Given the description of an element on the screen output the (x, y) to click on. 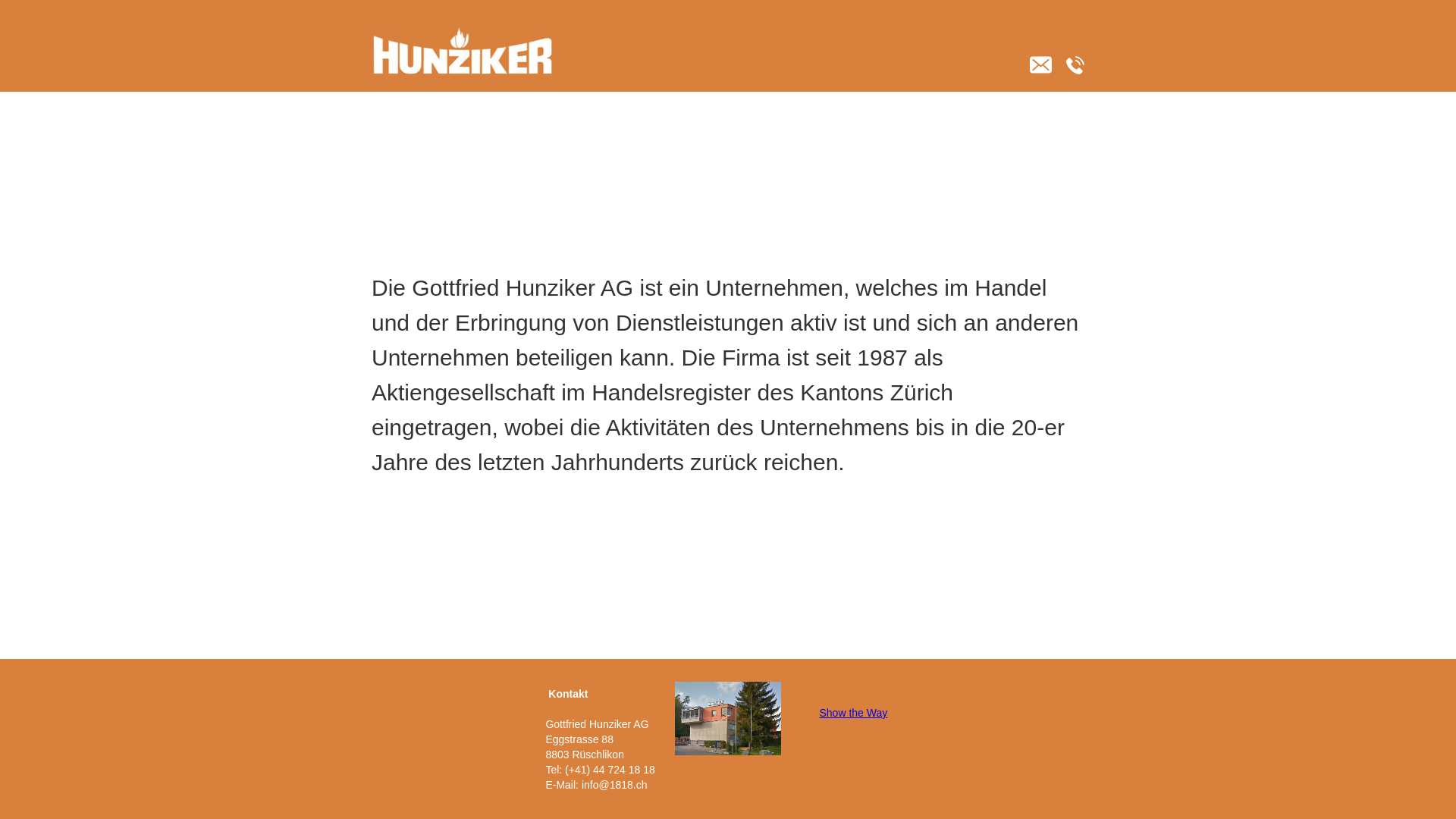
info@1818.ch Element type: text (614, 784)
Show the Way Element type: text (853, 712)
(+41) 44 724 18 18 Element type: text (609, 769)
